Given the description of an element on the screen output the (x, y) to click on. 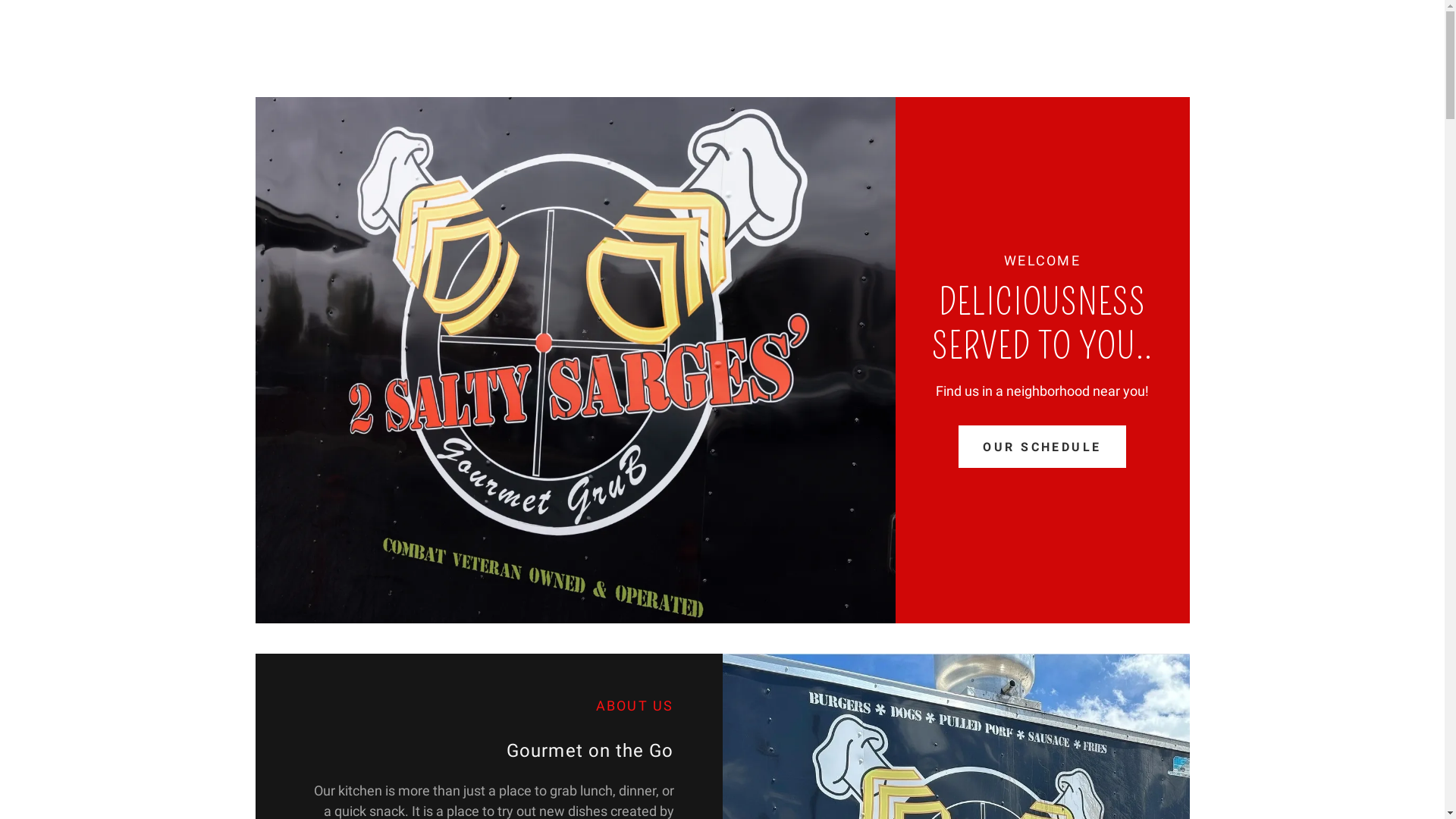
                                   
  Element type: hover (371, 57)
OUR SCHEDULE Element type: text (1041, 446)
